Given the description of an element on the screen output the (x, y) to click on. 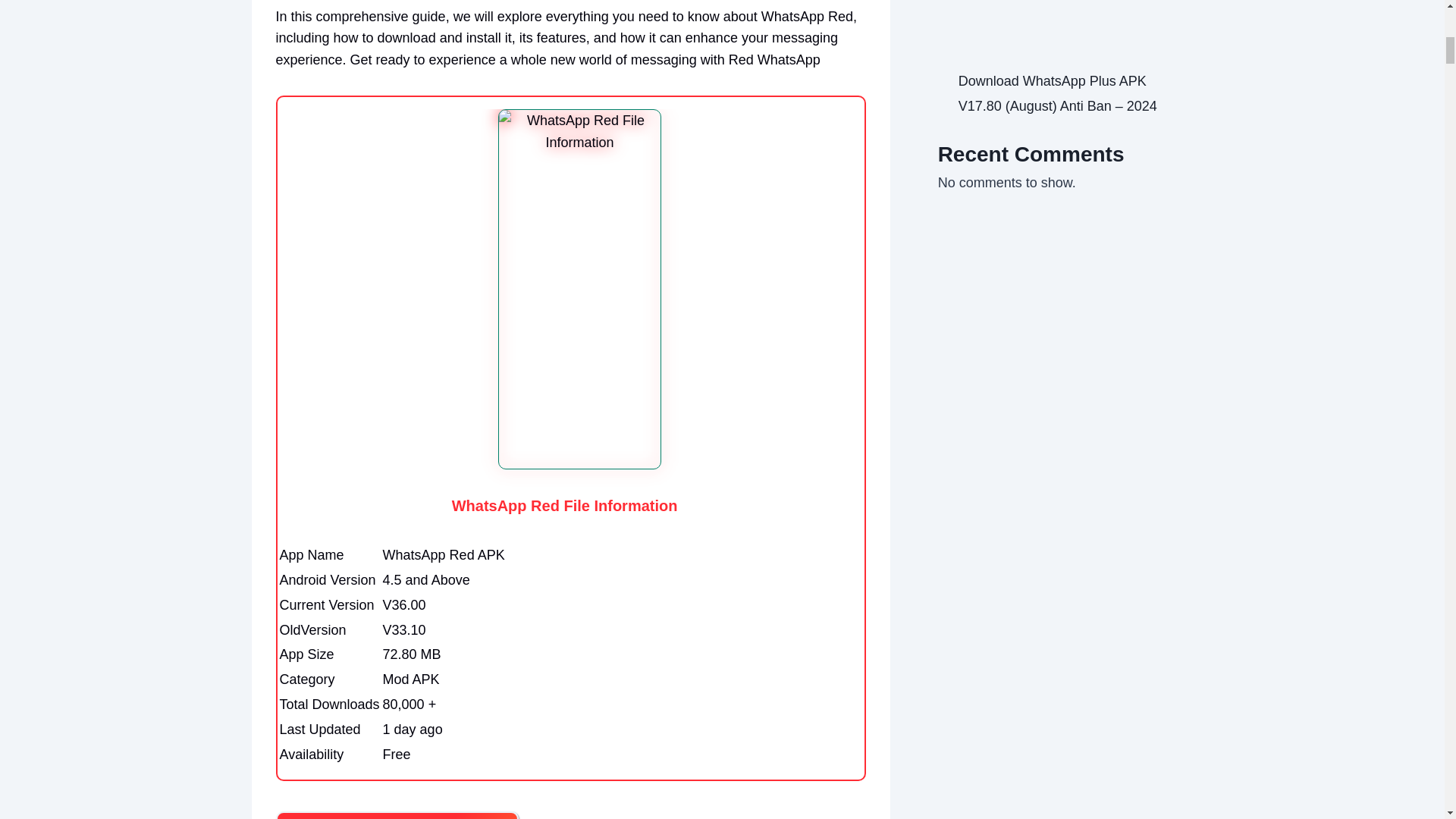
WhatsApp Red V36.00 (397, 815)
